Given the description of an element on the screen output the (x, y) to click on. 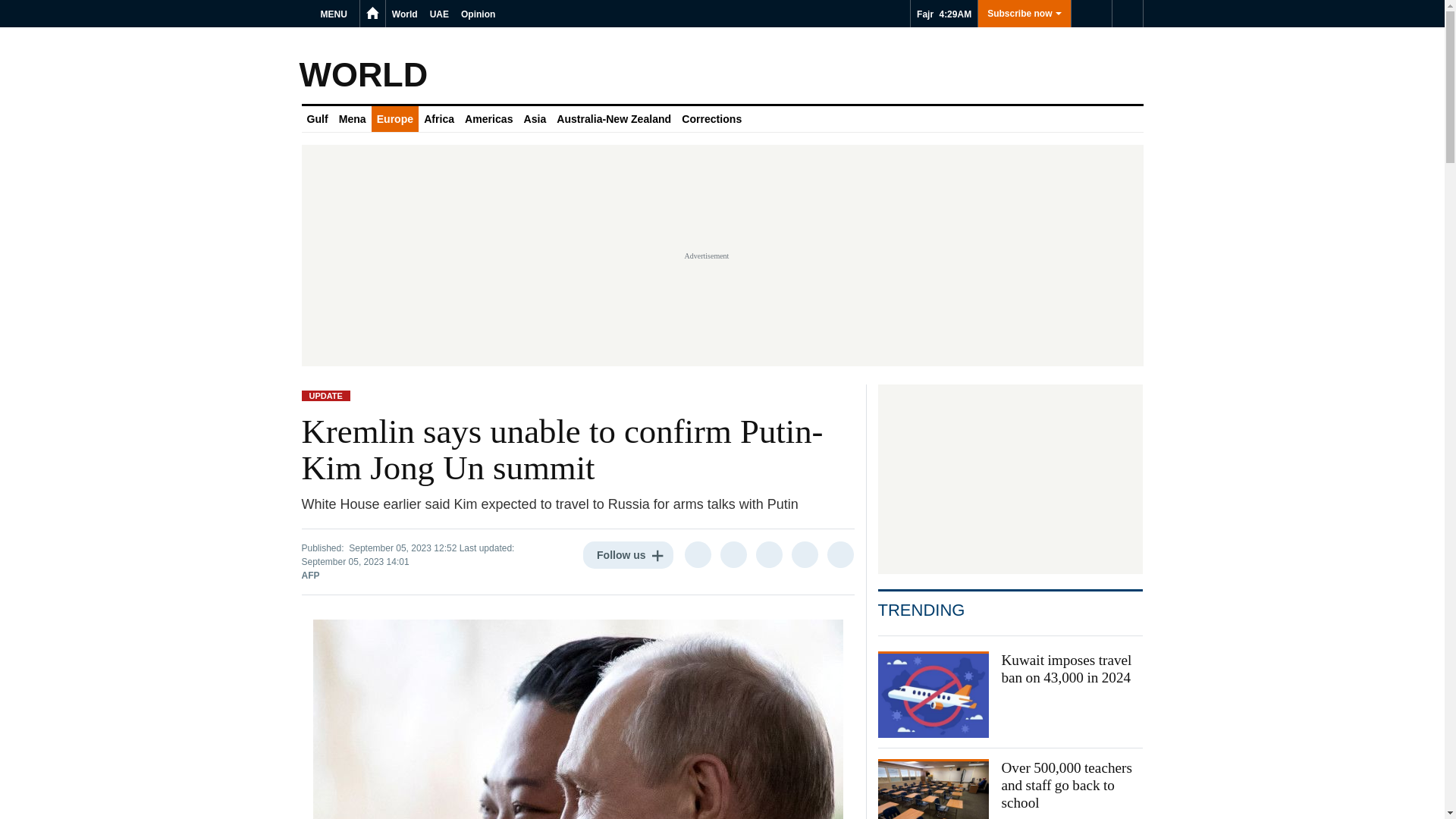
MENU (336, 13)
Opinion (477, 13)
Subscribe now (1024, 13)
Fajr 4:29AM (943, 13)
World (404, 13)
UAE (438, 13)
